Given the description of an element on the screen output the (x, y) to click on. 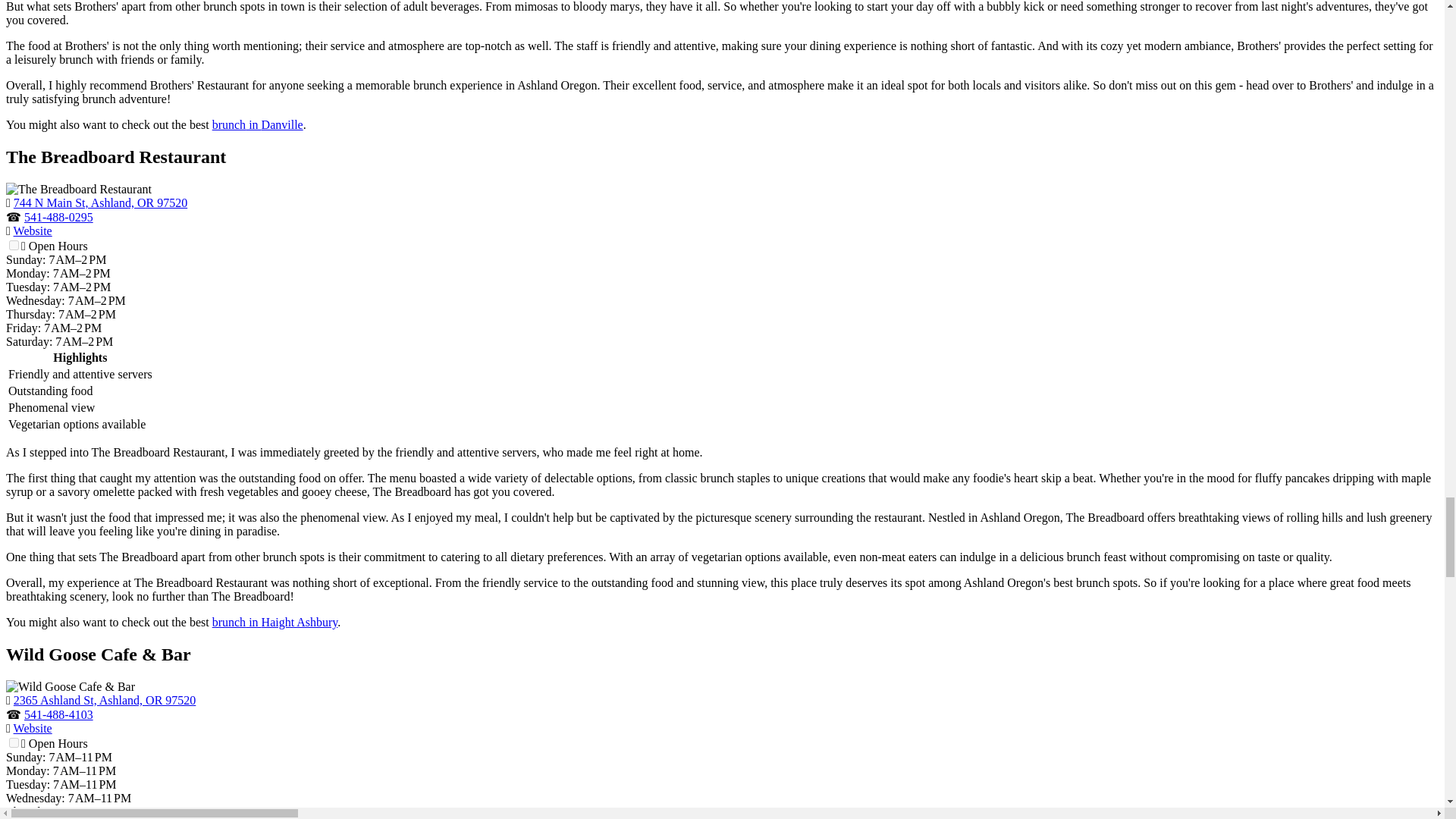
on (13, 245)
on (13, 742)
